Given the description of an element on the screen output the (x, y) to click on. 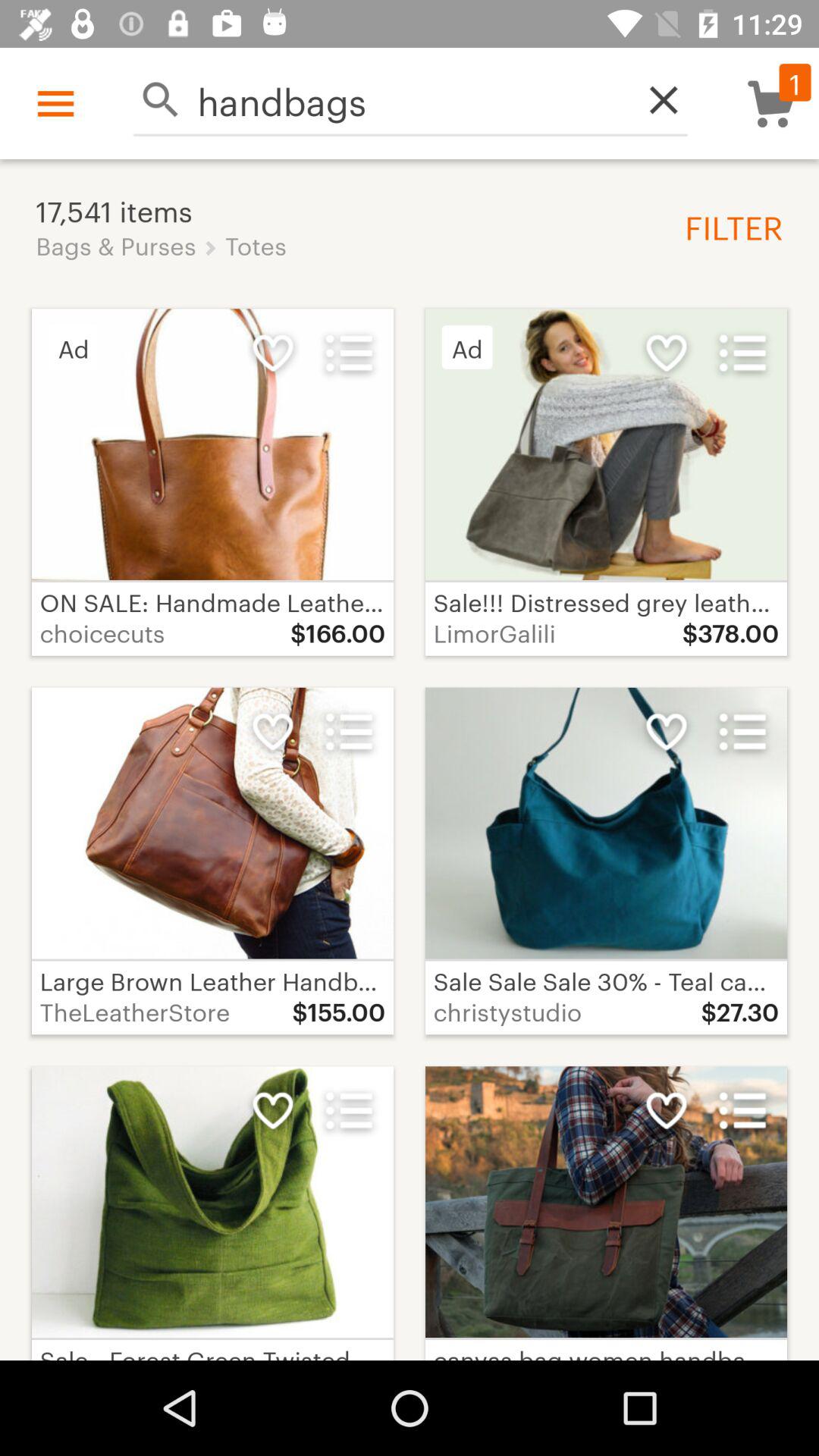
launch the icon to the right of the 17,541 items icon (727, 225)
